Given the description of an element on the screen output the (x, y) to click on. 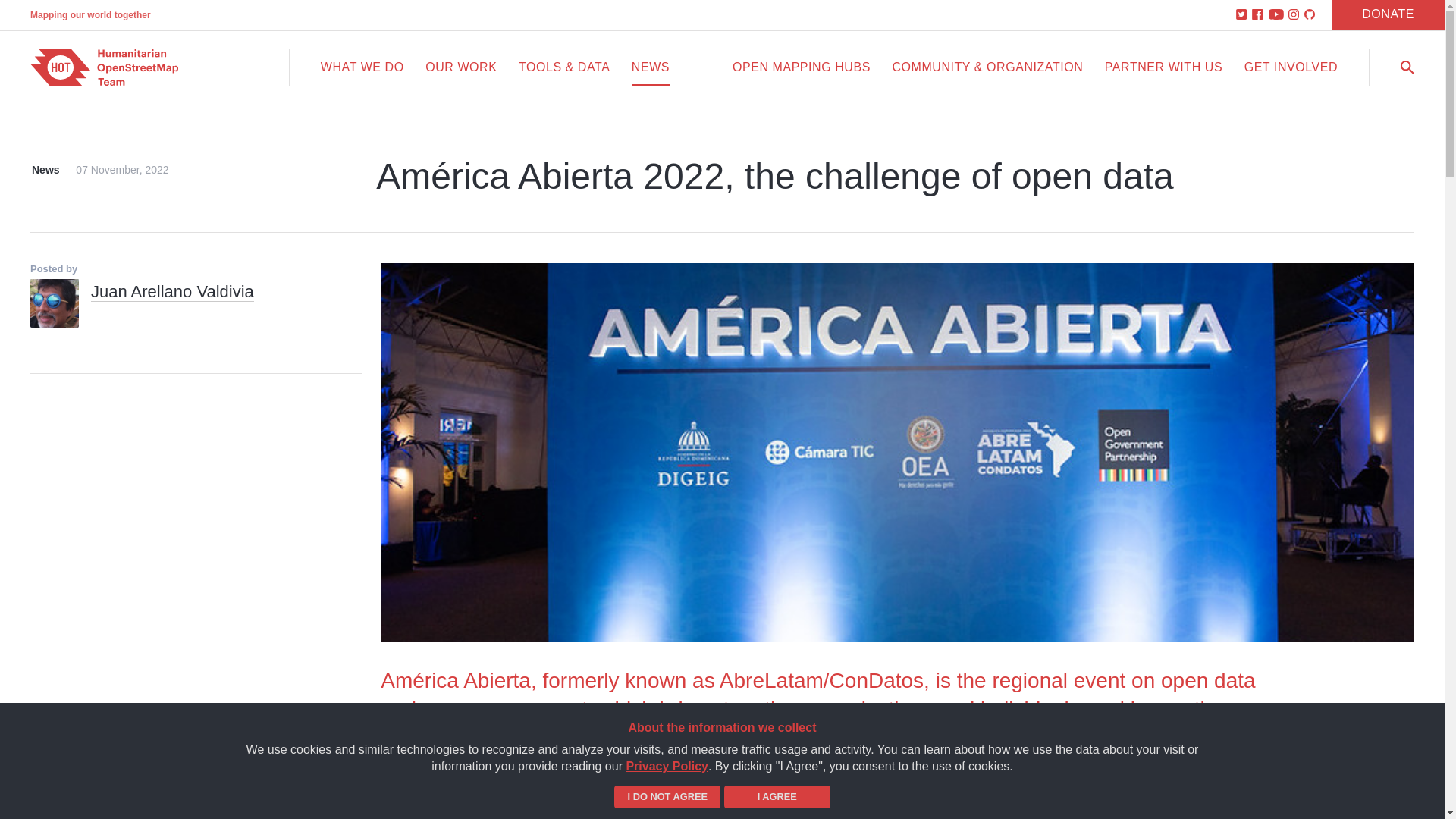
OPEN MAPPING HUBS (801, 67)
GitHub (1310, 15)
PARTNER WITH US (1164, 67)
WHAT WE DO (362, 67)
NEWS (650, 67)
YouTube (1276, 15)
OUR WORK (460, 67)
GET INVOLVED (1291, 67)
Juan Arellano Valdivia (171, 291)
